Given the description of an element on the screen output the (x, y) to click on. 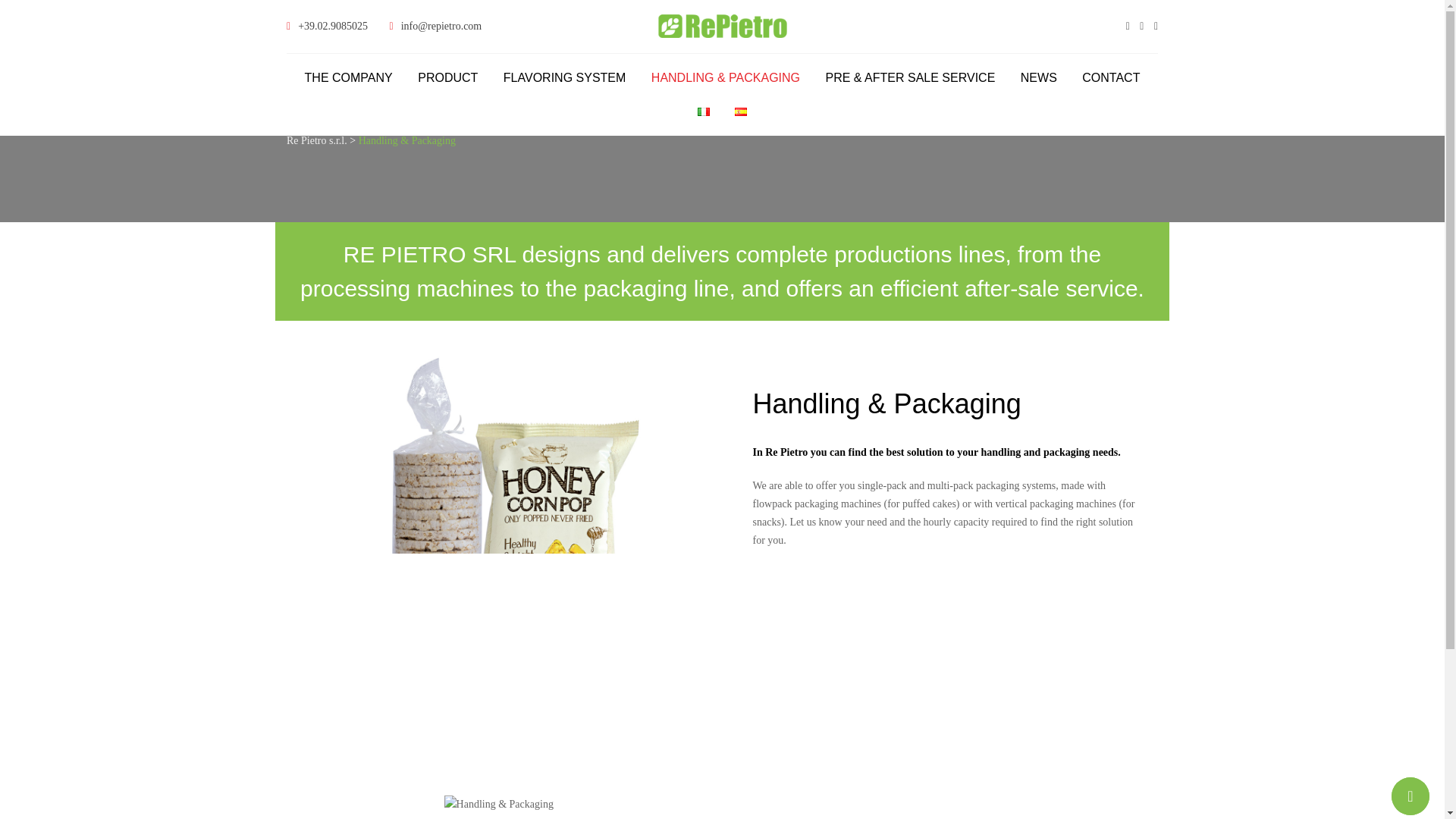
NEWS (1038, 85)
CONTACT (1110, 85)
Go to Re Pietro s.r.l.. (316, 140)
PRODUCT (447, 85)
FLAVORING SYSTEM (564, 85)
THE COMPANY (349, 85)
